Given the description of an element on the screen output the (x, y) to click on. 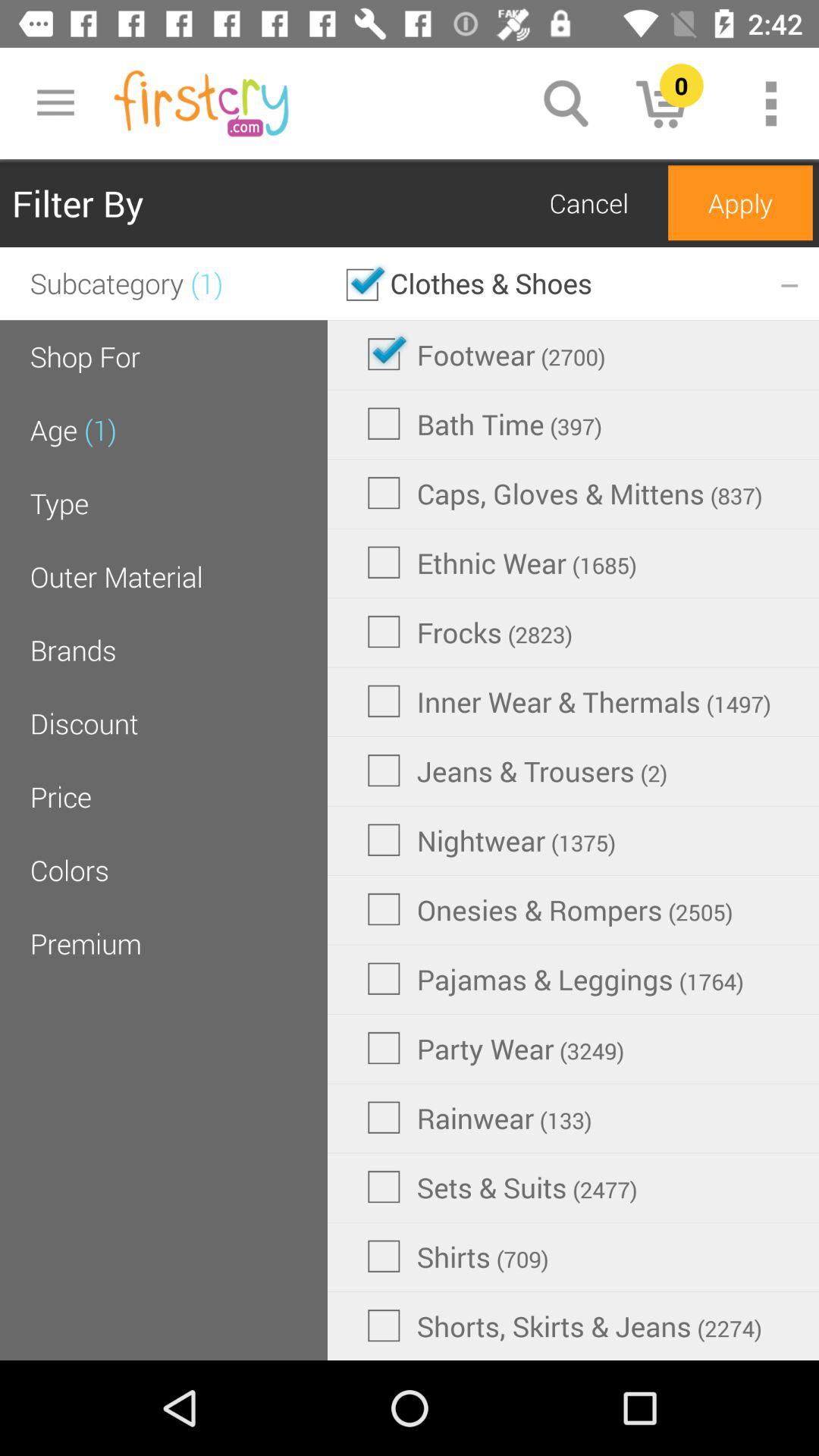
swipe until rainwear (133) icon (479, 1117)
